Given the description of an element on the screen output the (x, y) to click on. 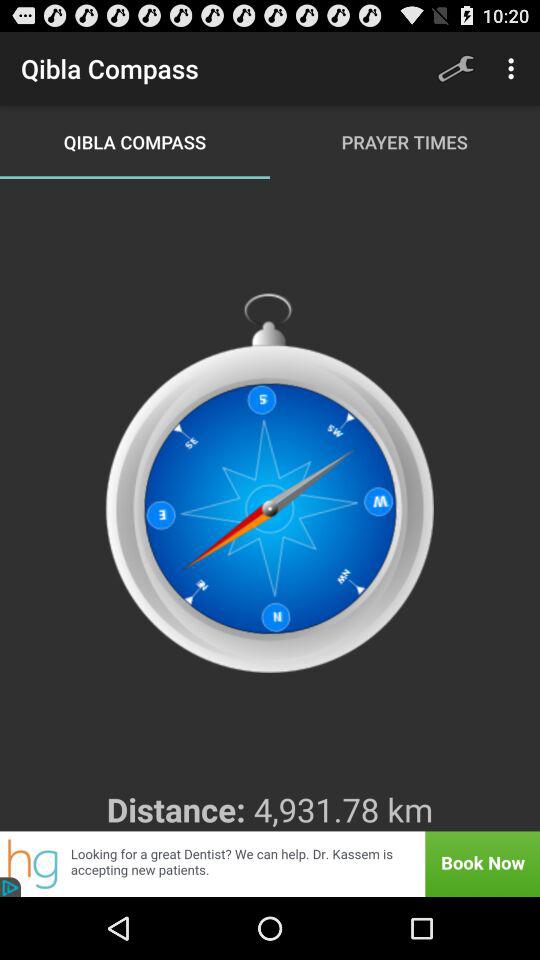
pulls up advertisement (270, 864)
